Given the description of an element on the screen output the (x, y) to click on. 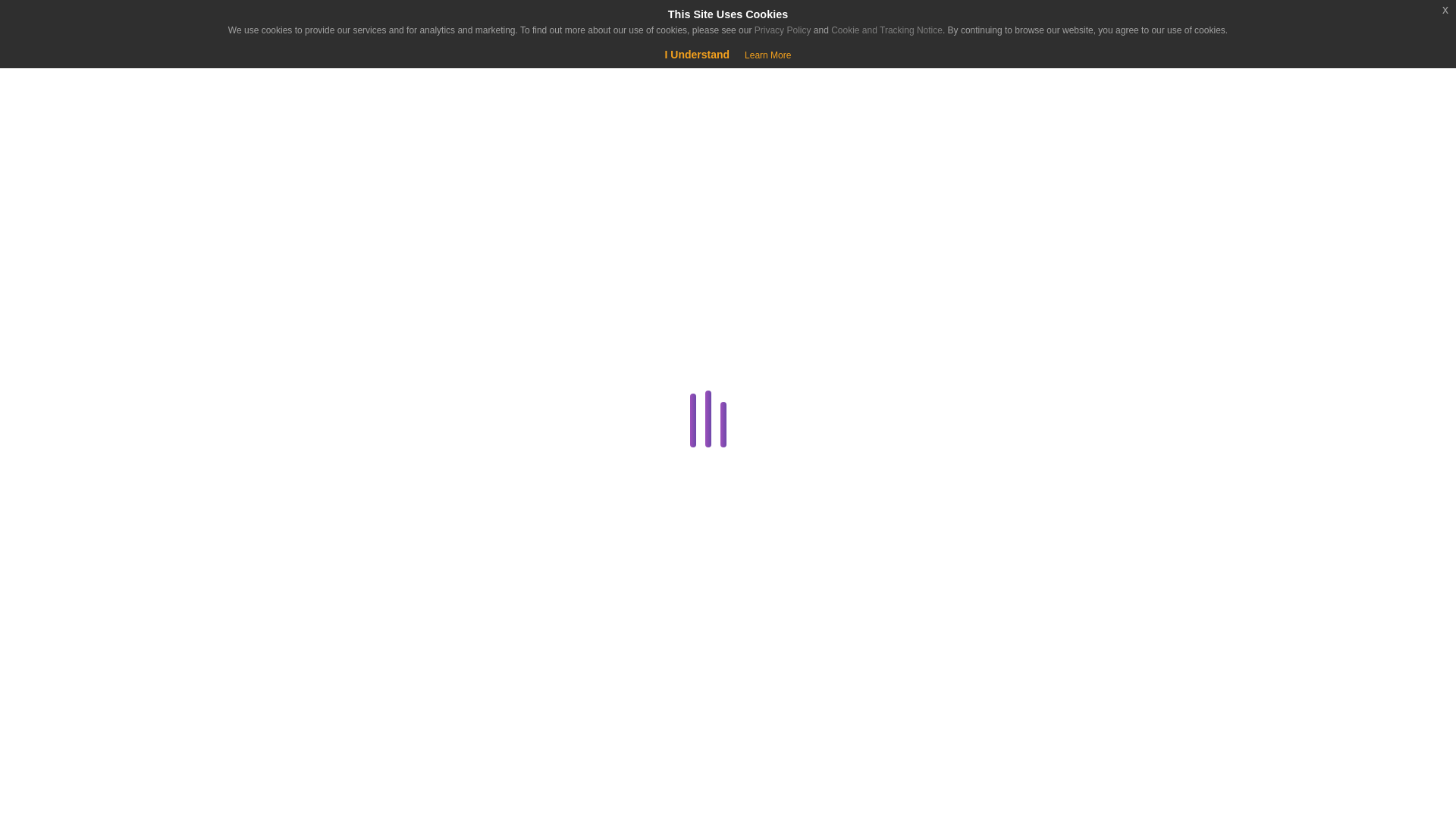
Billing (281, 349)
Colocation Guides (283, 385)
Home (94, 138)
Databases (281, 458)
Hosting Dashboard (281, 713)
FTP (283, 640)
Hesab (93, 23)
General (281, 677)
Dedicated Server Guides (281, 495)
Shopping Cart (59, 76)
cPanel (281, 422)
Email (281, 604)
Domains API (283, 567)
Qeydiyyat (129, 76)
Linux Administration (281, 750)
